Given the description of an element on the screen output the (x, y) to click on. 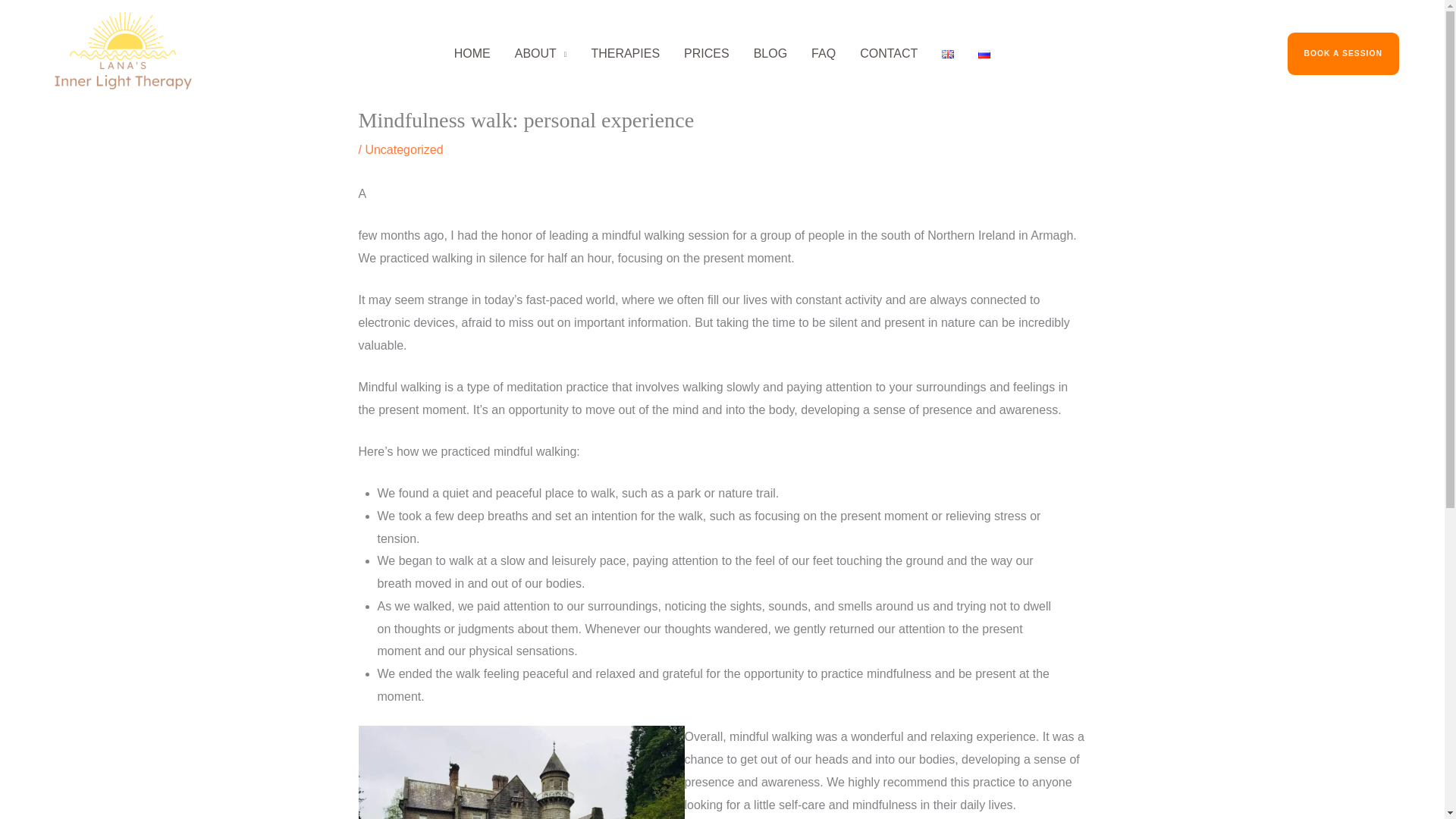
Uncategorized (403, 149)
BOOK A SESSION (1373, 53)
THERAPIES (624, 53)
CONTACT (888, 53)
